Given the description of an element on the screen output the (x, y) to click on. 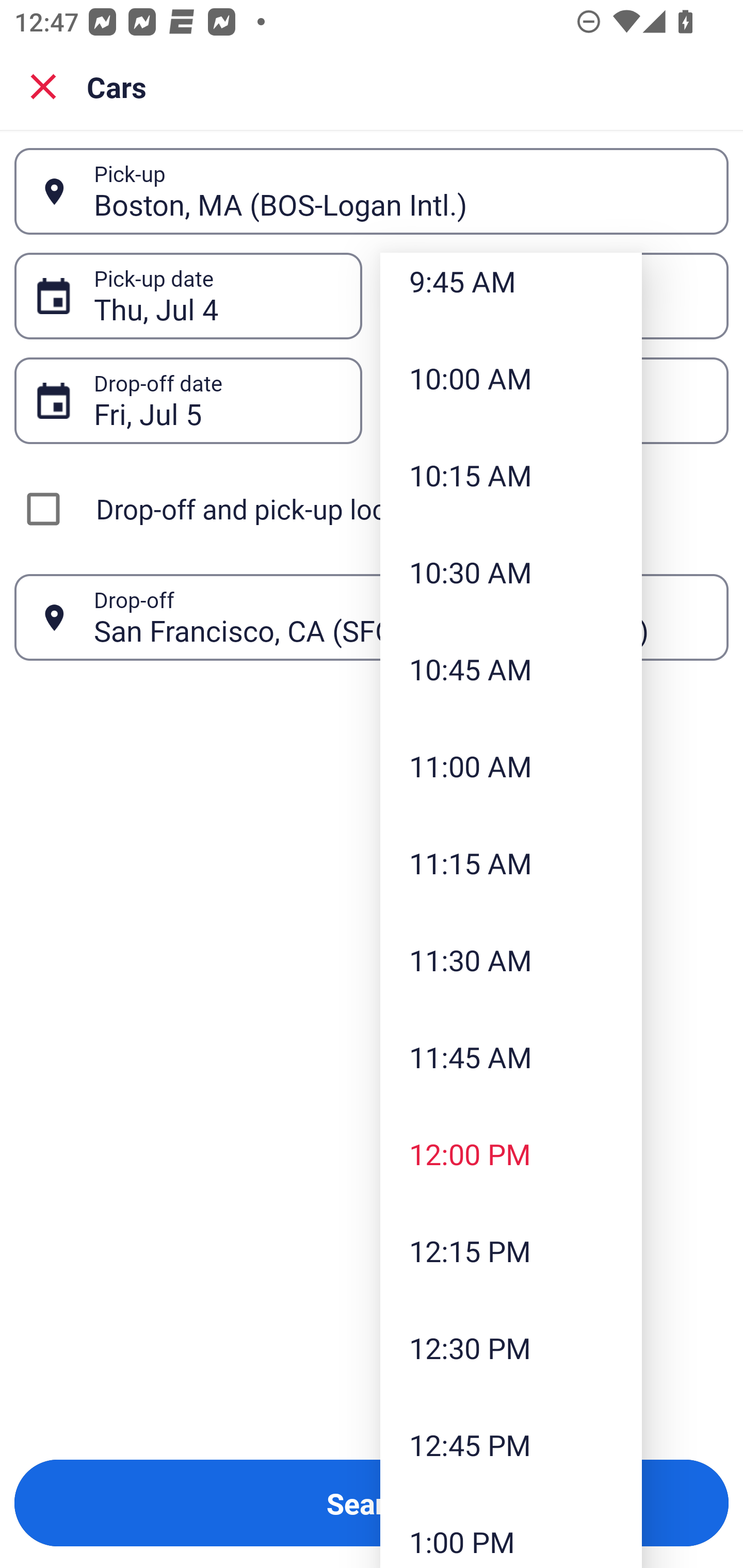
9:45 AM (510, 290)
10:00 AM (510, 377)
10:15 AM (510, 474)
10:30 AM (510, 571)
10:45 AM (510, 669)
11:00 AM (510, 765)
11:15 AM (510, 862)
11:30 AM (510, 959)
11:45 AM (510, 1056)
12:00 PM (510, 1153)
12:15 PM (510, 1250)
12:30 PM (510, 1347)
12:45 PM (510, 1443)
1:00 PM (510, 1530)
